Given the description of an element on the screen output the (x, y) to click on. 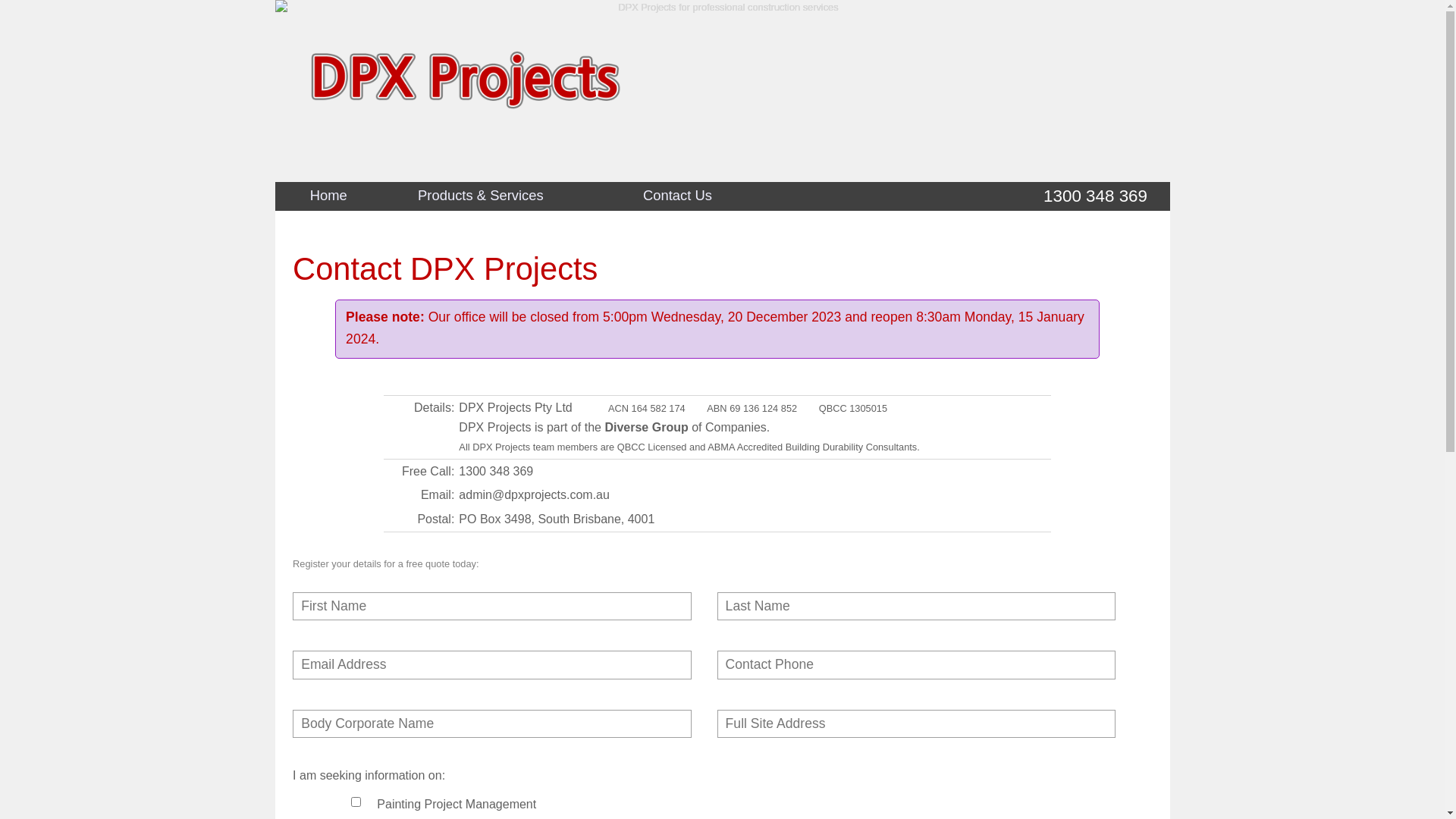
admin@dpxprojects.com.au Element type: text (533, 494)
1300 348 369 Element type: text (495, 470)
Home Element type: text (328, 196)
Full Site Address Element type: hover (916, 723)
Diverse Group Element type: text (645, 426)
Contact Us Element type: text (677, 196)
Body Corporate Name Element type: hover (491, 723)
Products & Services Element type: text (480, 196)
1300 348 369 Element type: text (1095, 195)
